Given the description of an element on the screen output the (x, y) to click on. 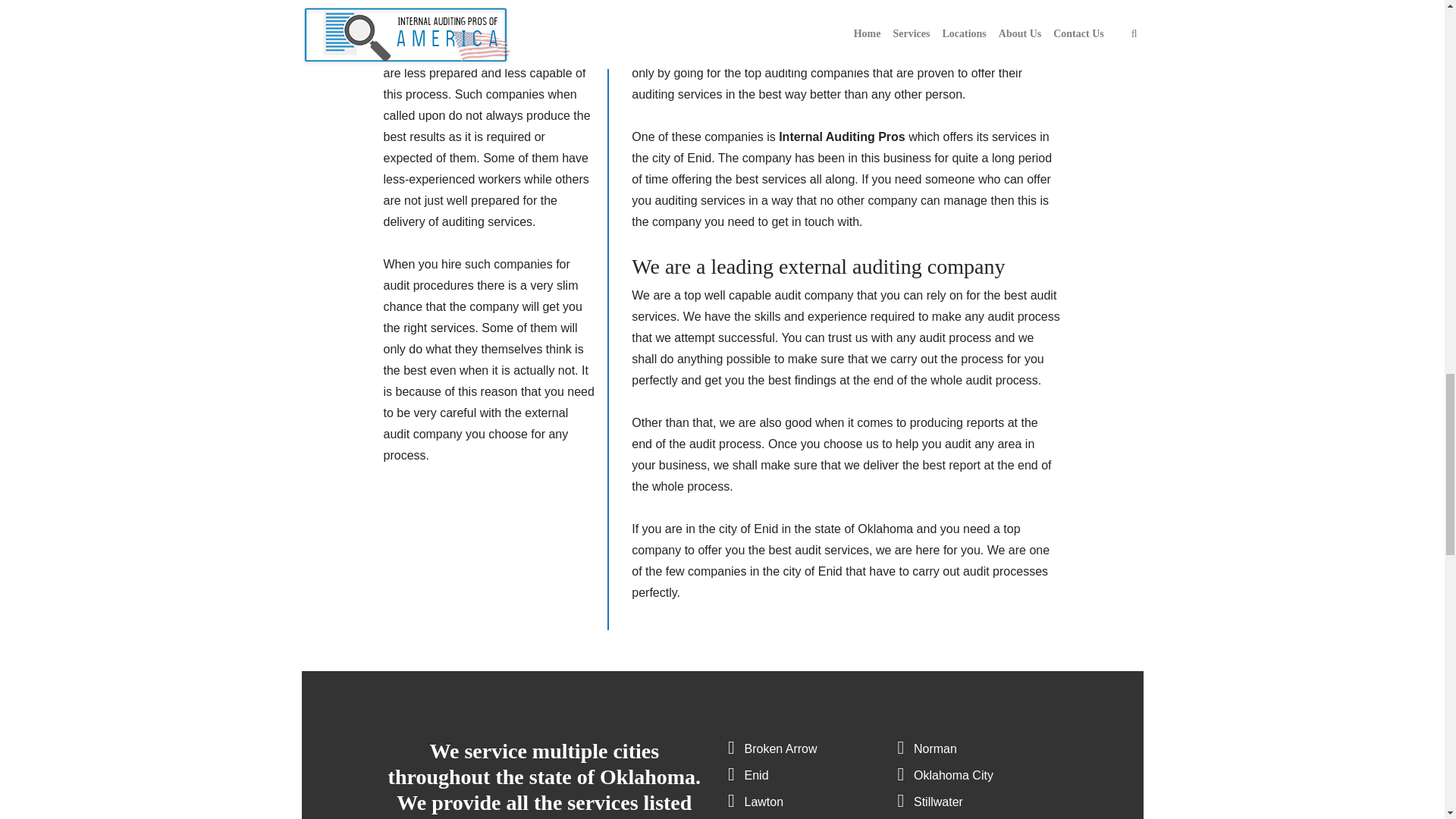
Norman (935, 748)
Stillwater (938, 801)
Enid (756, 775)
Oklahoma City (953, 775)
Lawton (764, 801)
Broken Arrow (780, 748)
